Given the description of an element on the screen output the (x, y) to click on. 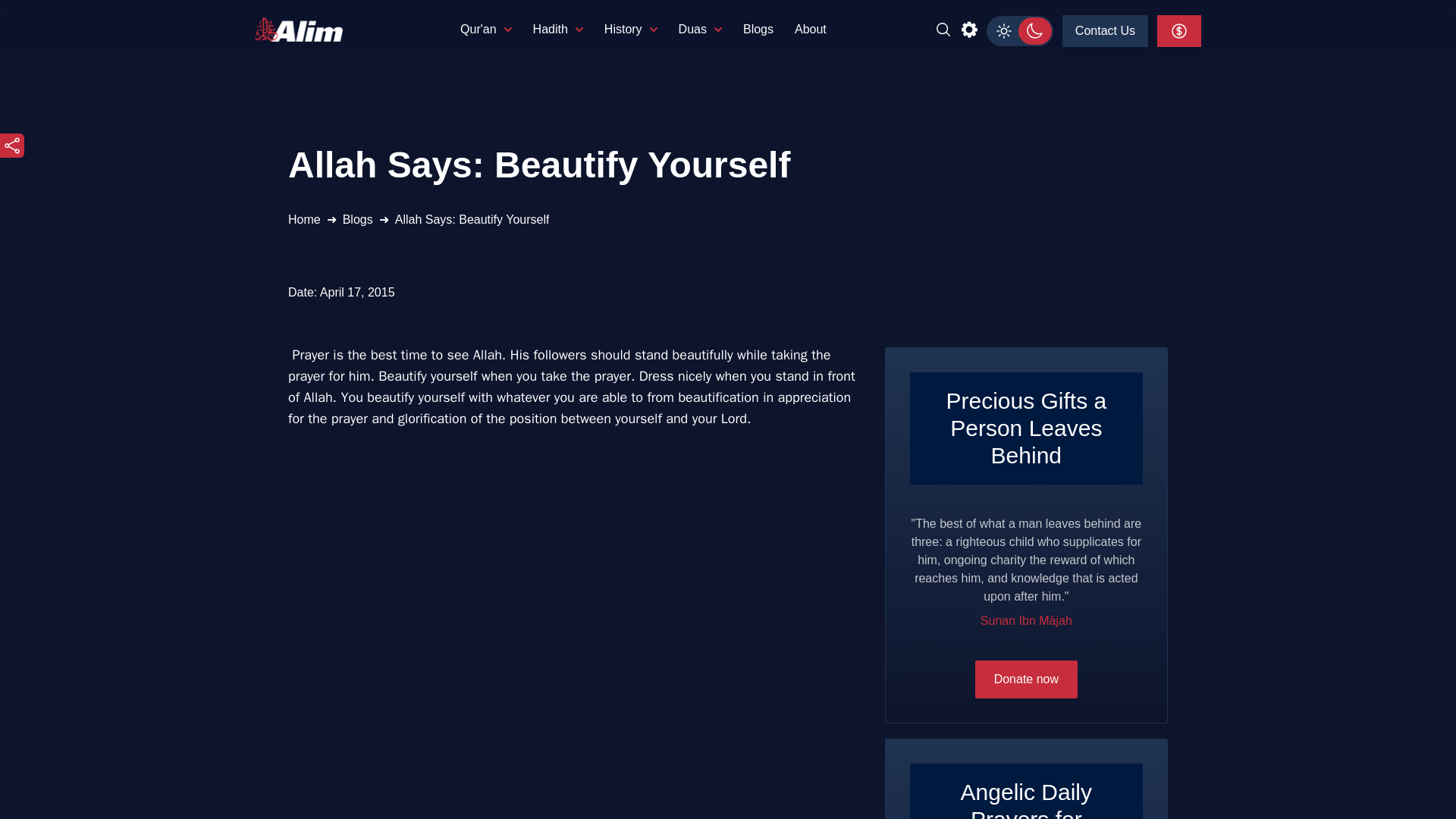
Global app settings (968, 29)
Contact Us (1105, 30)
Search Alim (943, 29)
Share this page (12, 145)
Qur'an (486, 29)
Alim.org (303, 29)
Donate now (1026, 679)
Alim - Islamic software for Quran and Hadith (298, 29)
Donate now (1179, 30)
Hadith (557, 29)
Allah Says: Beautify Yourself (472, 219)
History (631, 29)
Contact us (1105, 30)
